Given the description of an element on the screen output the (x, y) to click on. 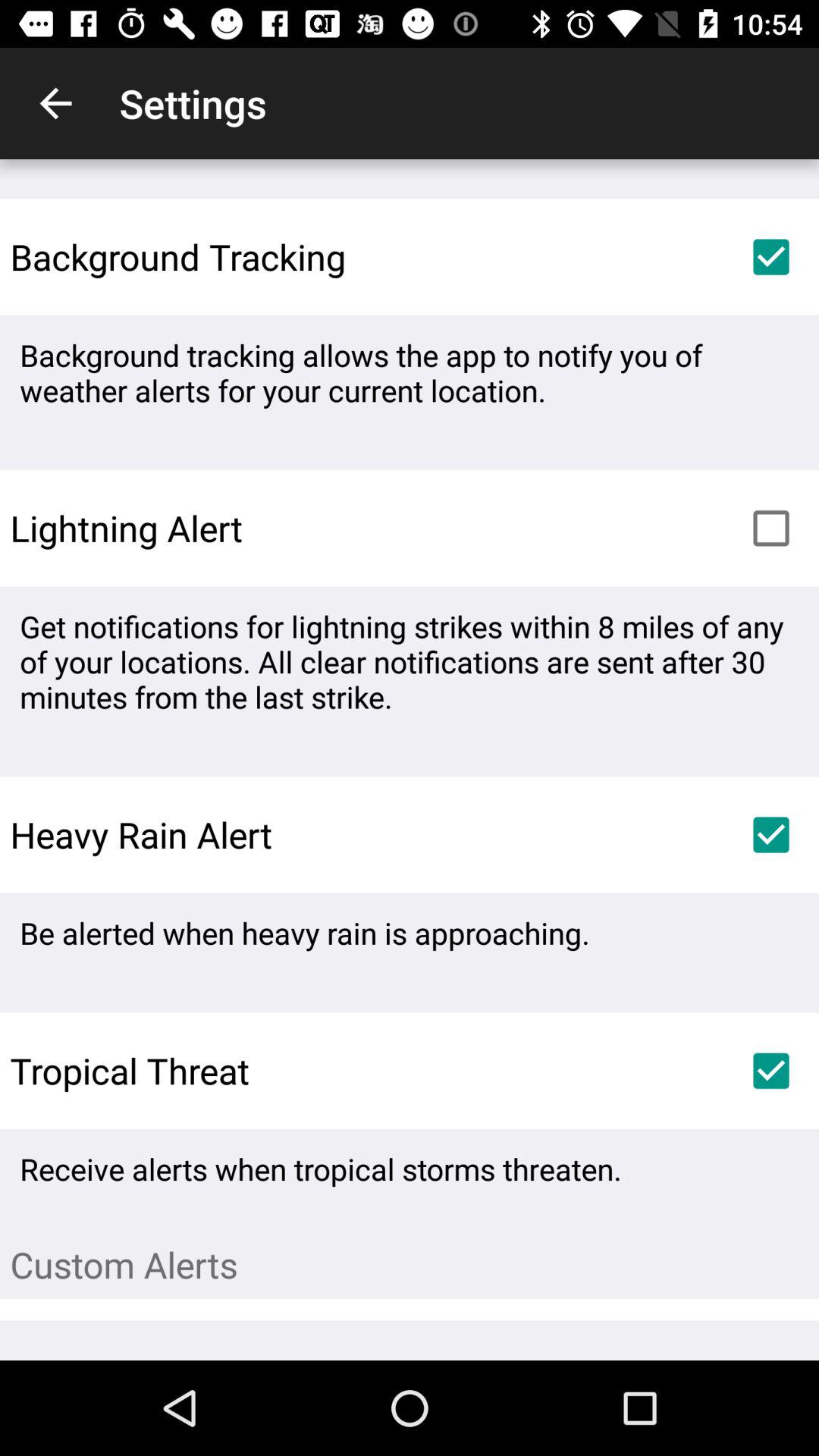
launch the icon to the right of the lightning alert icon (771, 528)
